Given the description of an element on the screen output the (x, y) to click on. 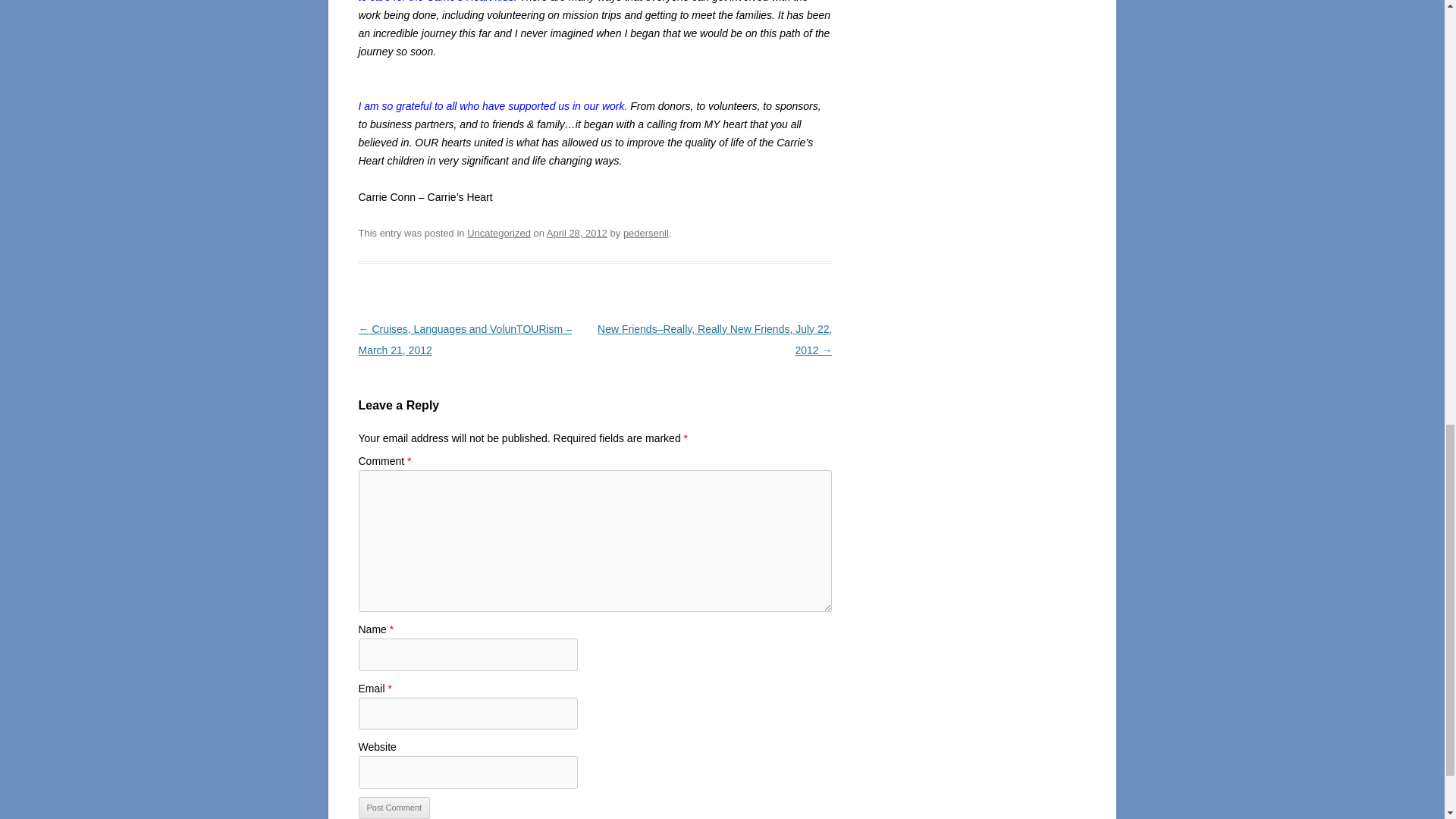
View all posts by pedersenll (645, 233)
Uncategorized (499, 233)
April 28, 2012 (577, 233)
4:30 pm (577, 233)
pedersenll (645, 233)
